Given the description of an element on the screen output the (x, y) to click on. 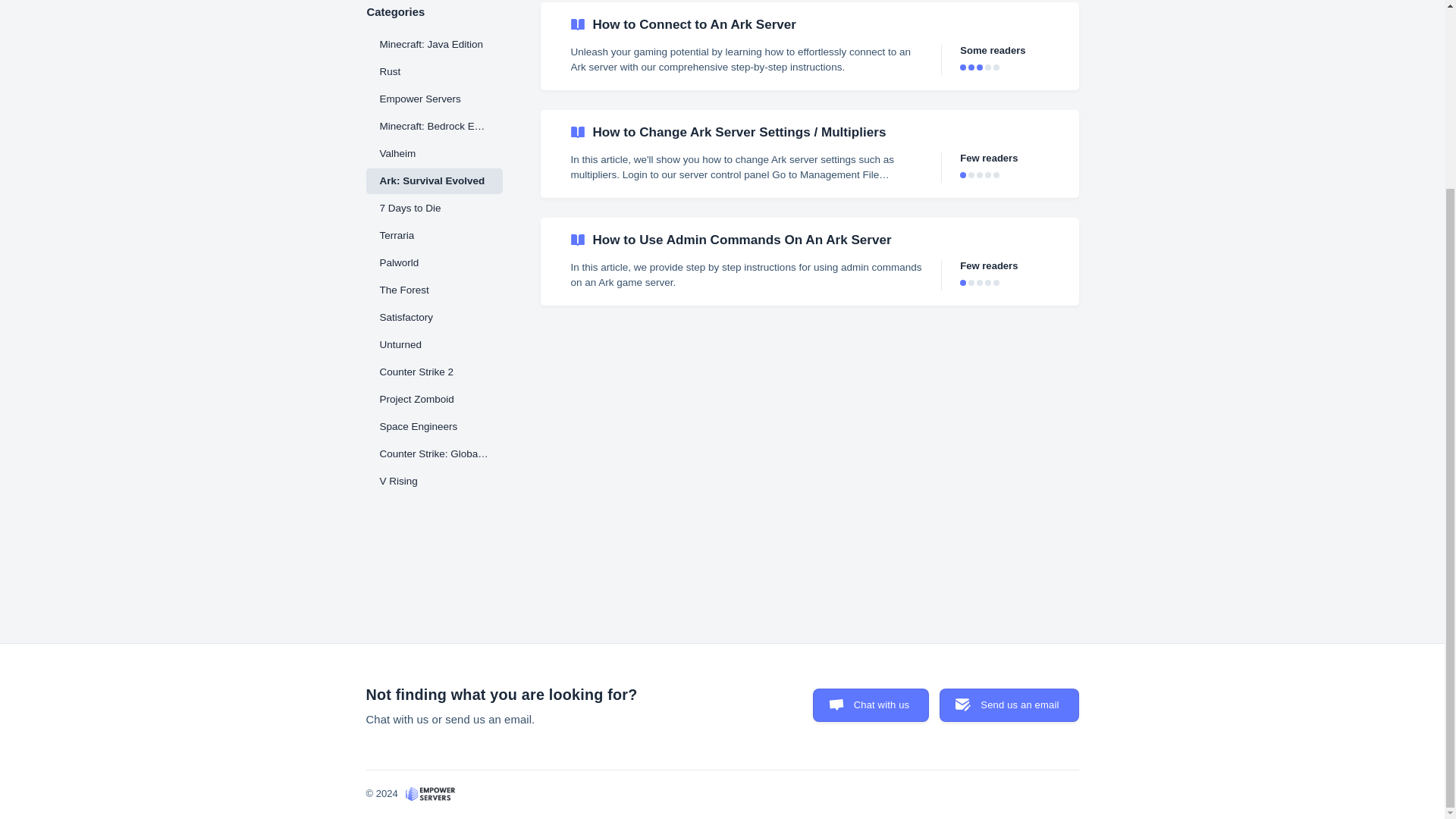
Rust (433, 71)
Valheim (433, 153)
V Rising (433, 481)
Ark: Survival Evolved (433, 181)
Minecraft: Java Edition (433, 44)
Satisfactory (433, 317)
Terraria (433, 235)
Minecraft: Bedrock Edition (433, 126)
Project Zomboid (433, 399)
